Given the description of an element on the screen output the (x, y) to click on. 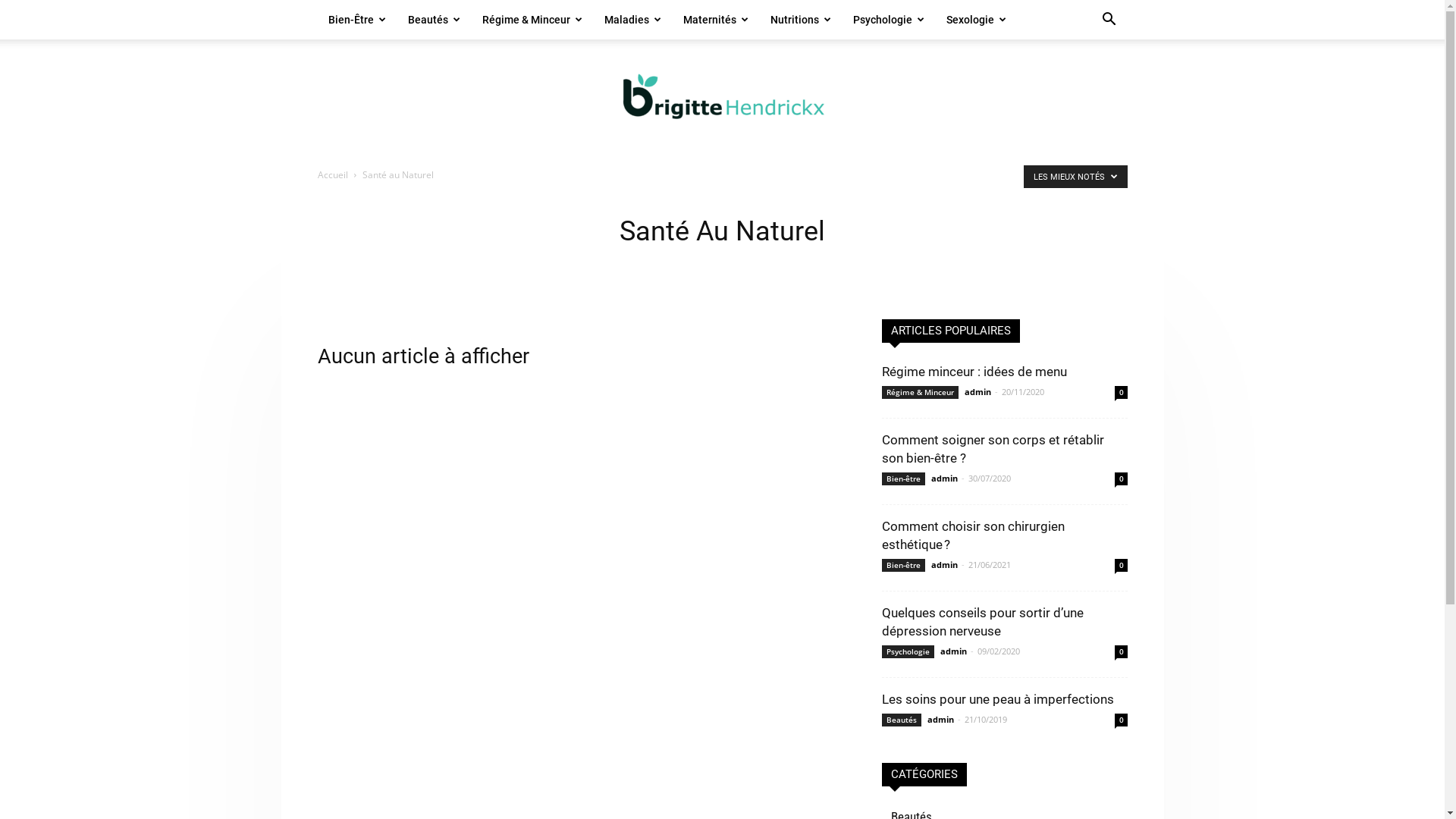
Maladies Element type: text (632, 19)
Recherche Element type: text (1076, 81)
0 Element type: text (1120, 391)
Nutritions Element type: text (800, 19)
0 Element type: text (1120, 564)
admin Element type: text (977, 391)
0 Element type: text (1120, 478)
admin Element type: text (939, 718)
Psychologie Element type: text (888, 19)
admin Element type: text (953, 650)
admin Element type: text (944, 477)
0 Element type: text (1120, 651)
admin Element type: text (944, 564)
Sexologie Element type: text (976, 19)
Accueil Element type: text (331, 174)
Brigitte Hendrickx Element type: text (721, 95)
0 Element type: text (1120, 719)
Psychologie Element type: text (907, 651)
